Given the description of an element on the screen output the (x, y) to click on. 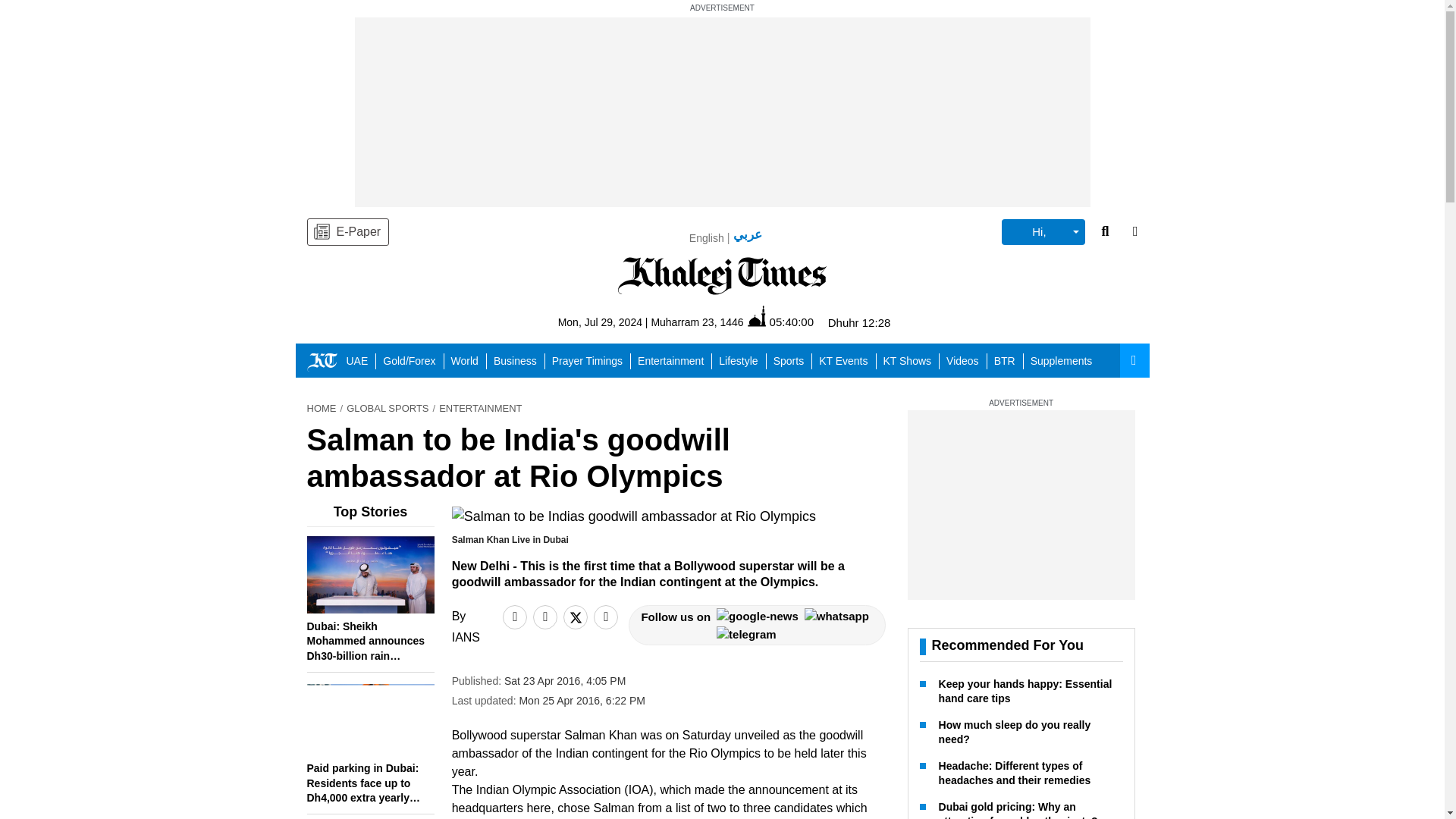
Dhuhr 12:28 (859, 322)
E-Paper (346, 231)
05:40:00 (780, 321)
Hi, (1042, 232)
